Given the description of an element on the screen output the (x, y) to click on. 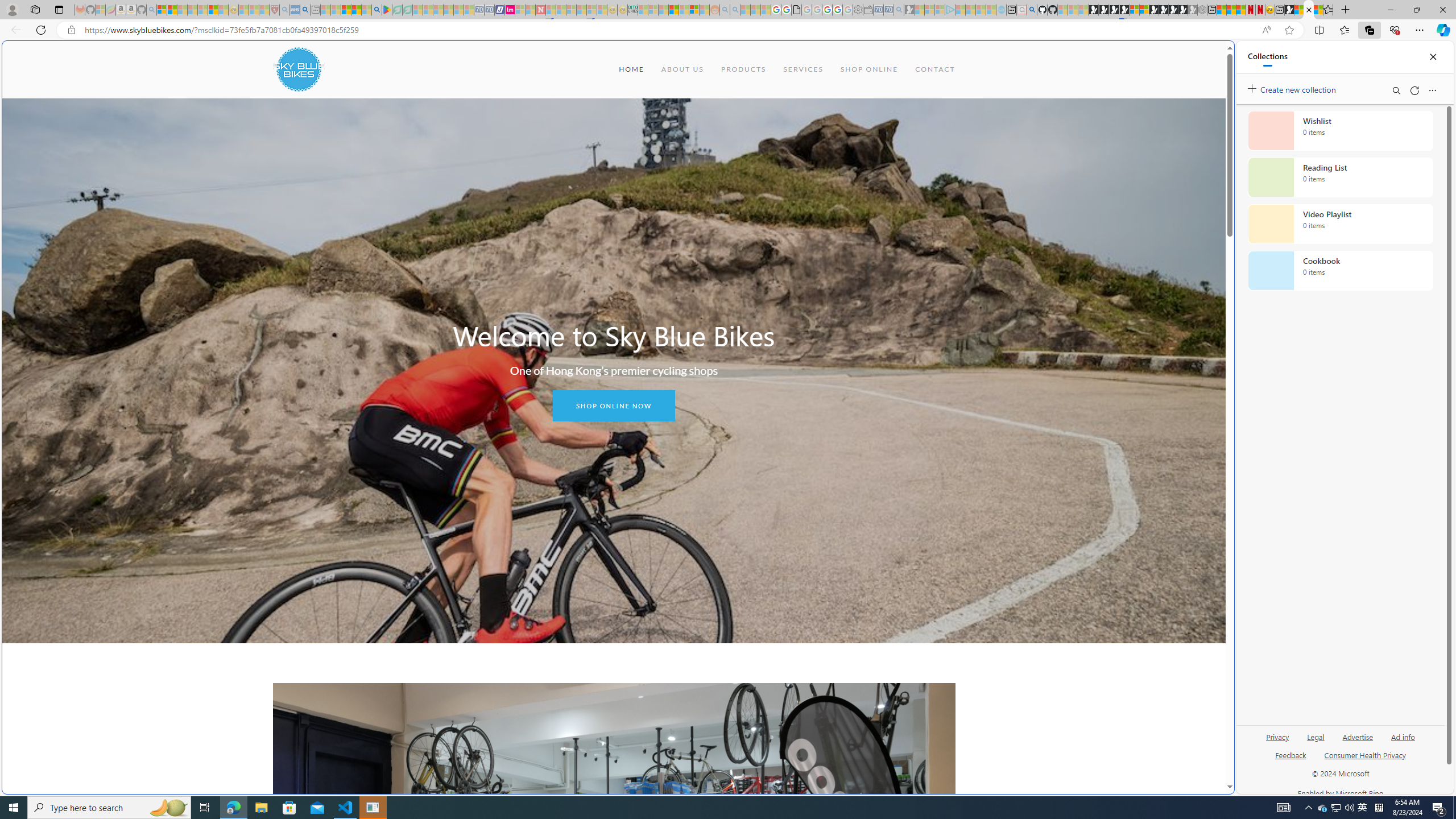
SHOP ONLINE (869, 68)
HOME (631, 68)
SHOP ONLINE (869, 68)
